Given the description of an element on the screen output the (x, y) to click on. 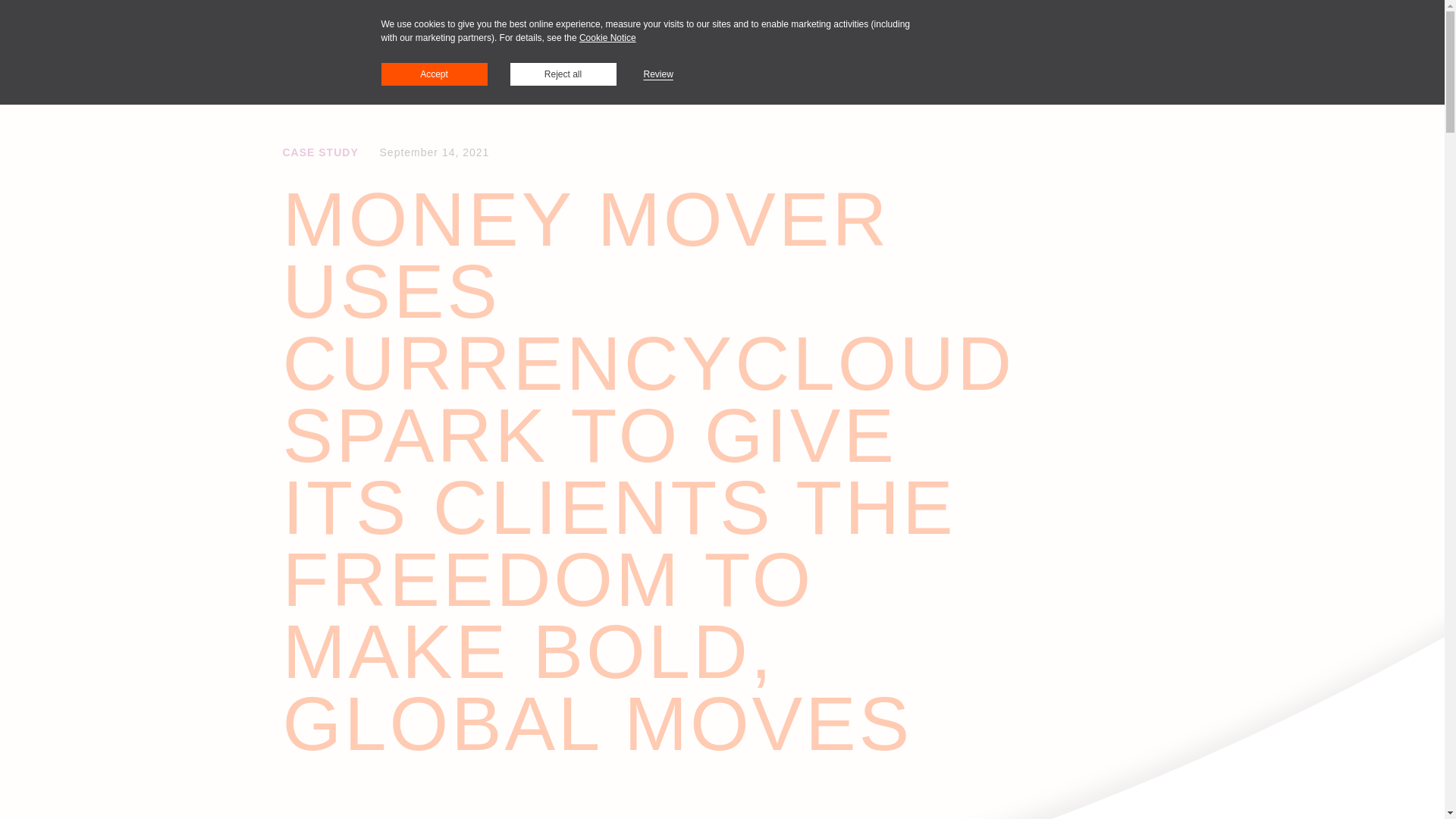
Resources (599, 74)
Platform (519, 74)
Solutions (443, 74)
About (673, 74)
Developer Portal (835, 72)
GET STARTED (1118, 72)
Help Center (932, 72)
English (1010, 73)
